Given the description of an element on the screen output the (x, y) to click on. 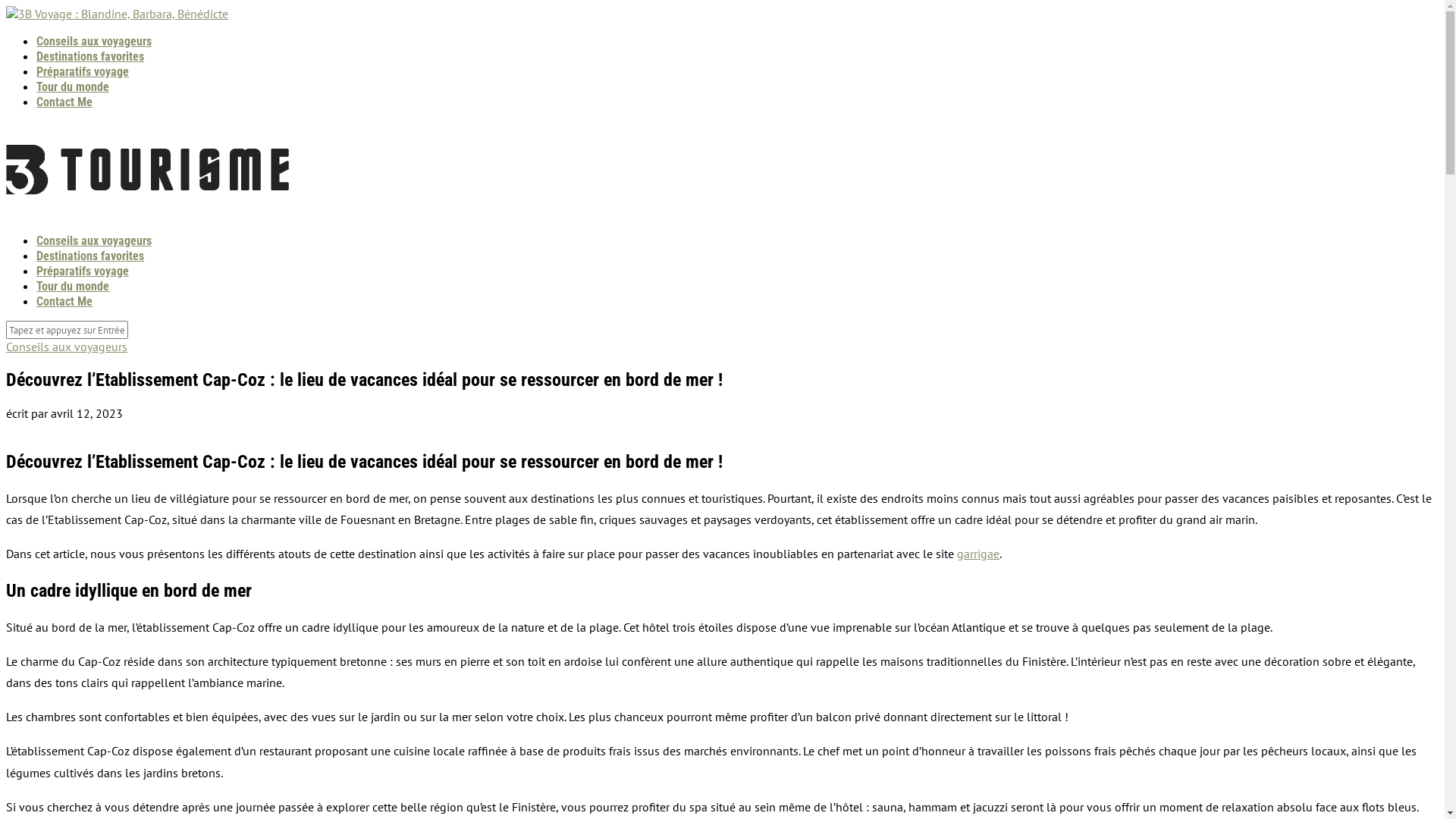
Tour du monde Element type: text (72, 286)
Conseils aux voyageurs Element type: text (93, 41)
garrigae Element type: text (978, 553)
Destinations favorites Element type: text (90, 255)
Contact Me Element type: text (64, 301)
Conseils aux voyageurs Element type: text (93, 240)
dcea4bdffb63d6ab8ff4d0feb844ed71 Element type: hover (8, 431)
Conseils aux voyageurs Element type: text (66, 346)
Tour du monde Element type: text (72, 86)
Destinations favorites Element type: text (90, 56)
Contact Me Element type: text (64, 101)
